Given the description of an element on the screen output the (x, y) to click on. 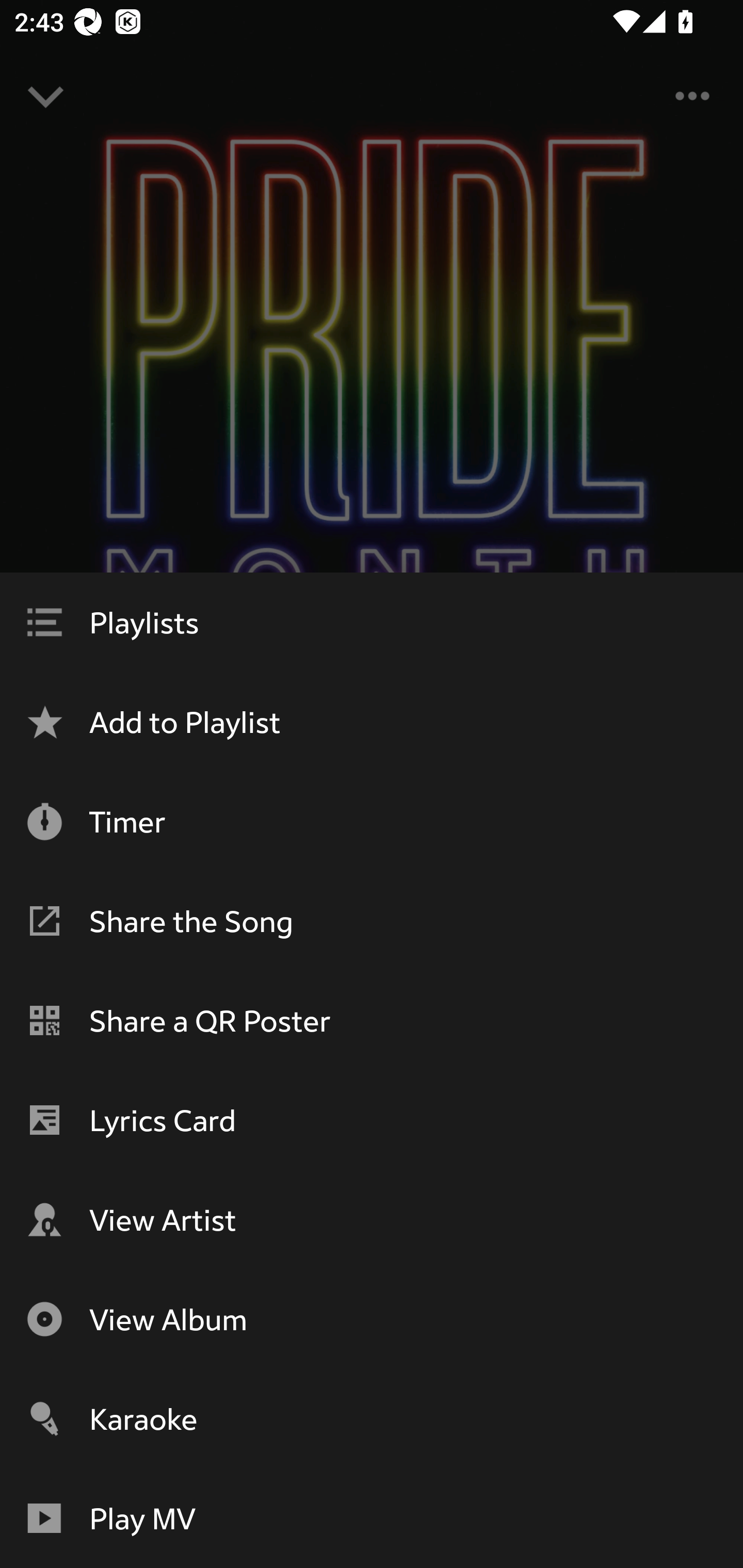
Playlists (371, 622)
Add to Playlist (371, 721)
Timer (371, 821)
Share the Song (371, 920)
Share a QR Poster (371, 1020)
Lyrics Card (371, 1119)
View Artist (371, 1219)
View Album (371, 1319)
Karaoke (371, 1418)
Play MV (371, 1518)
